Given the description of an element on the screen output the (x, y) to click on. 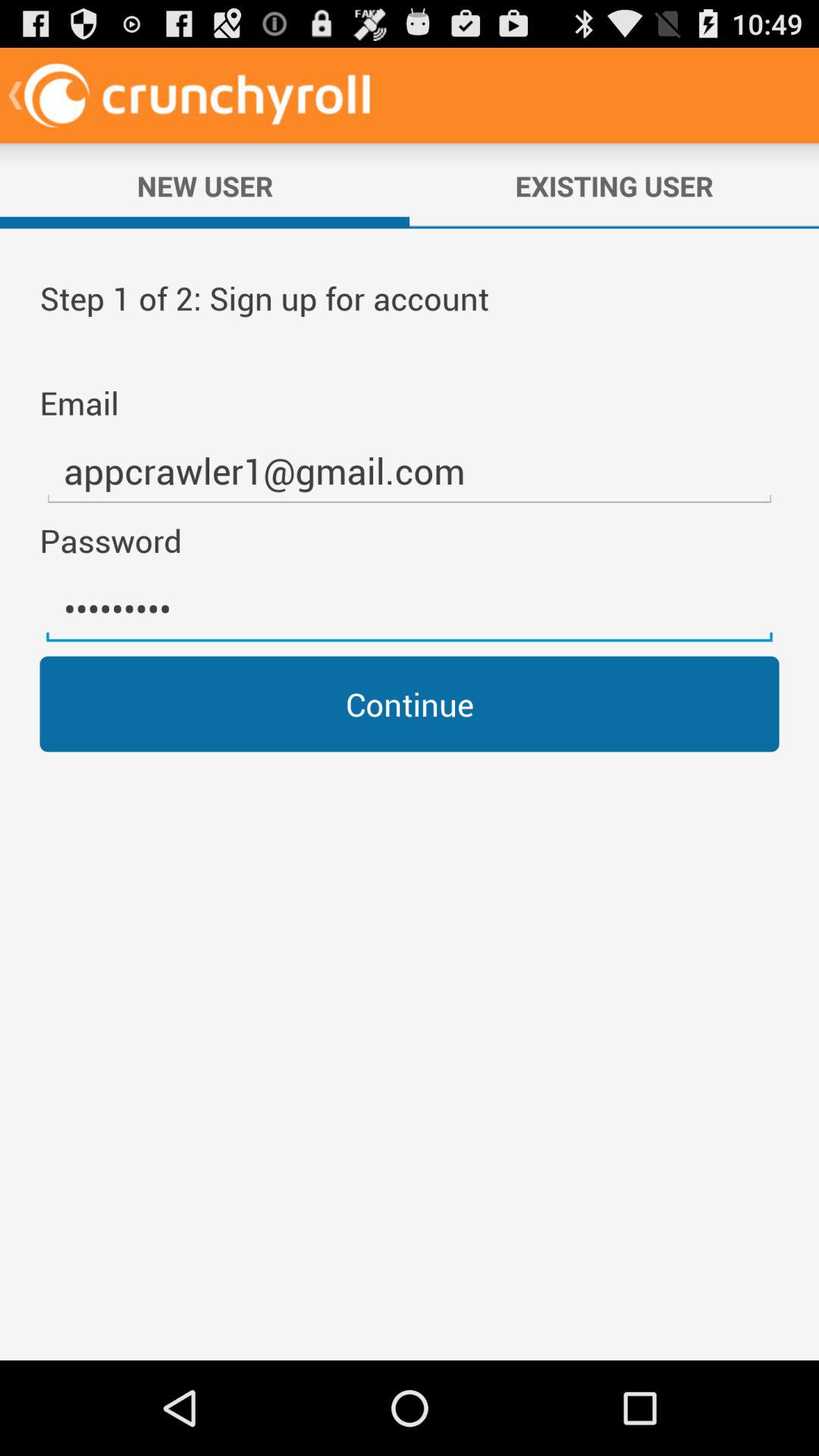
turn off the icon to the left of the existing user icon (204, 185)
